Given the description of an element on the screen output the (x, y) to click on. 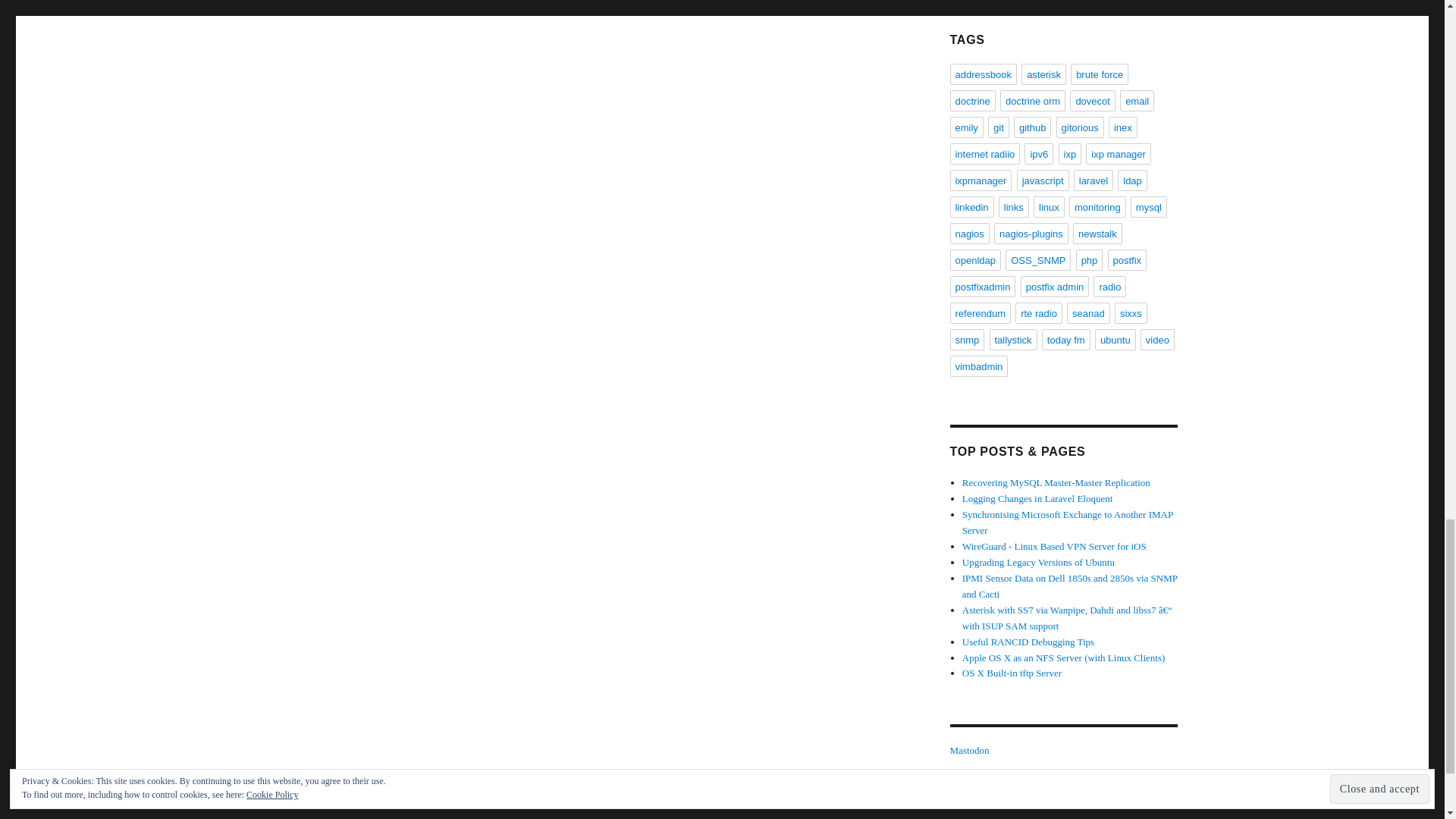
addressbook (982, 74)
asterisk (1043, 74)
